Given the description of an element on the screen output the (x, y) to click on. 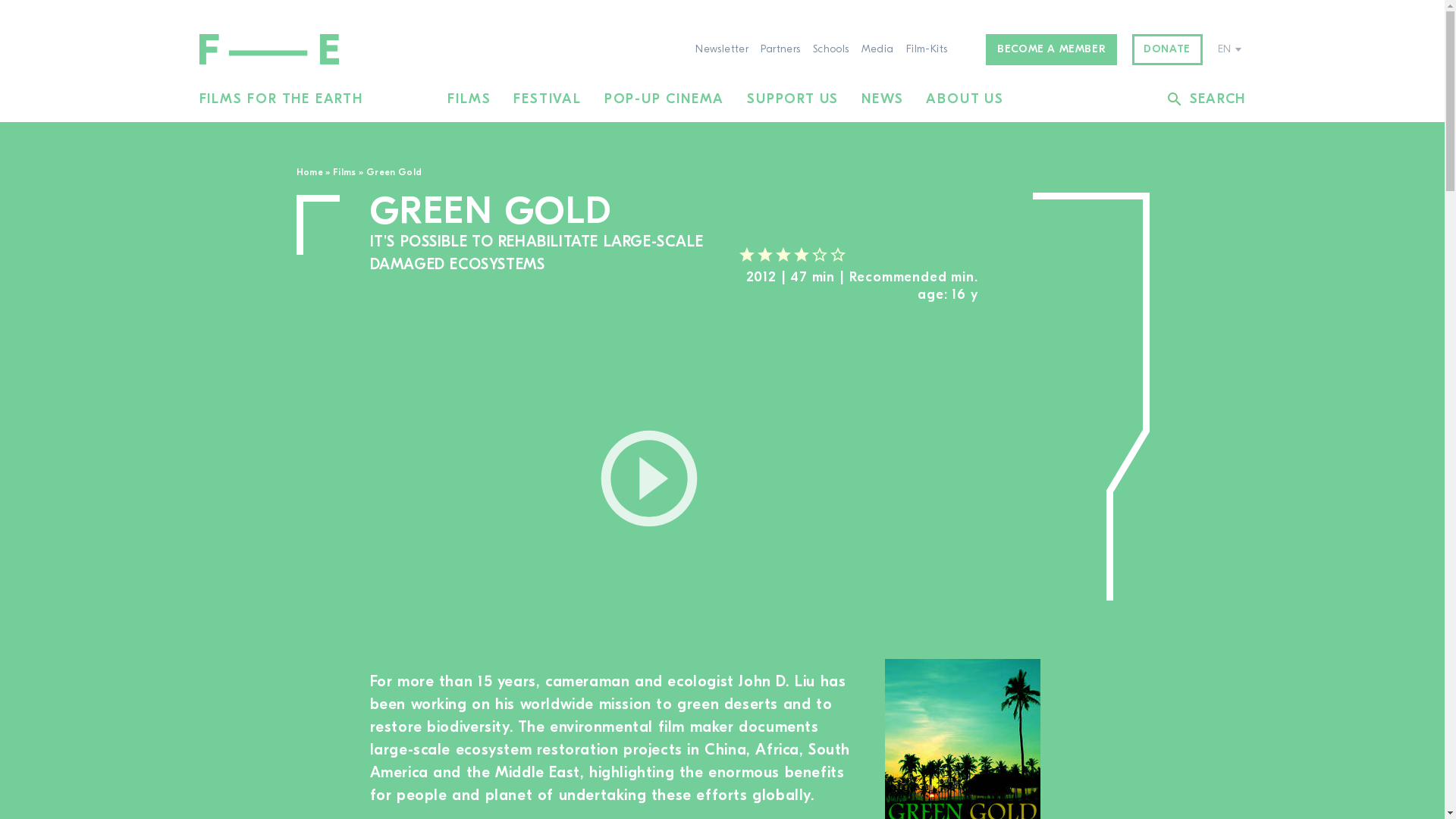
FILMS (468, 98)
Films (344, 172)
POP-UP CINEMA (663, 98)
Media (877, 49)
NEWS (881, 98)
Star rating: 4 of 6 (790, 254)
Home (308, 172)
FILMS FOR THE EARTH (280, 98)
Schools (830, 49)
Newsletter (721, 49)
Film-Kits (926, 49)
ABOUT US (964, 98)
DONATE (1167, 49)
FESTIVAL (546, 98)
